Given the description of an element on the screen output the (x, y) to click on. 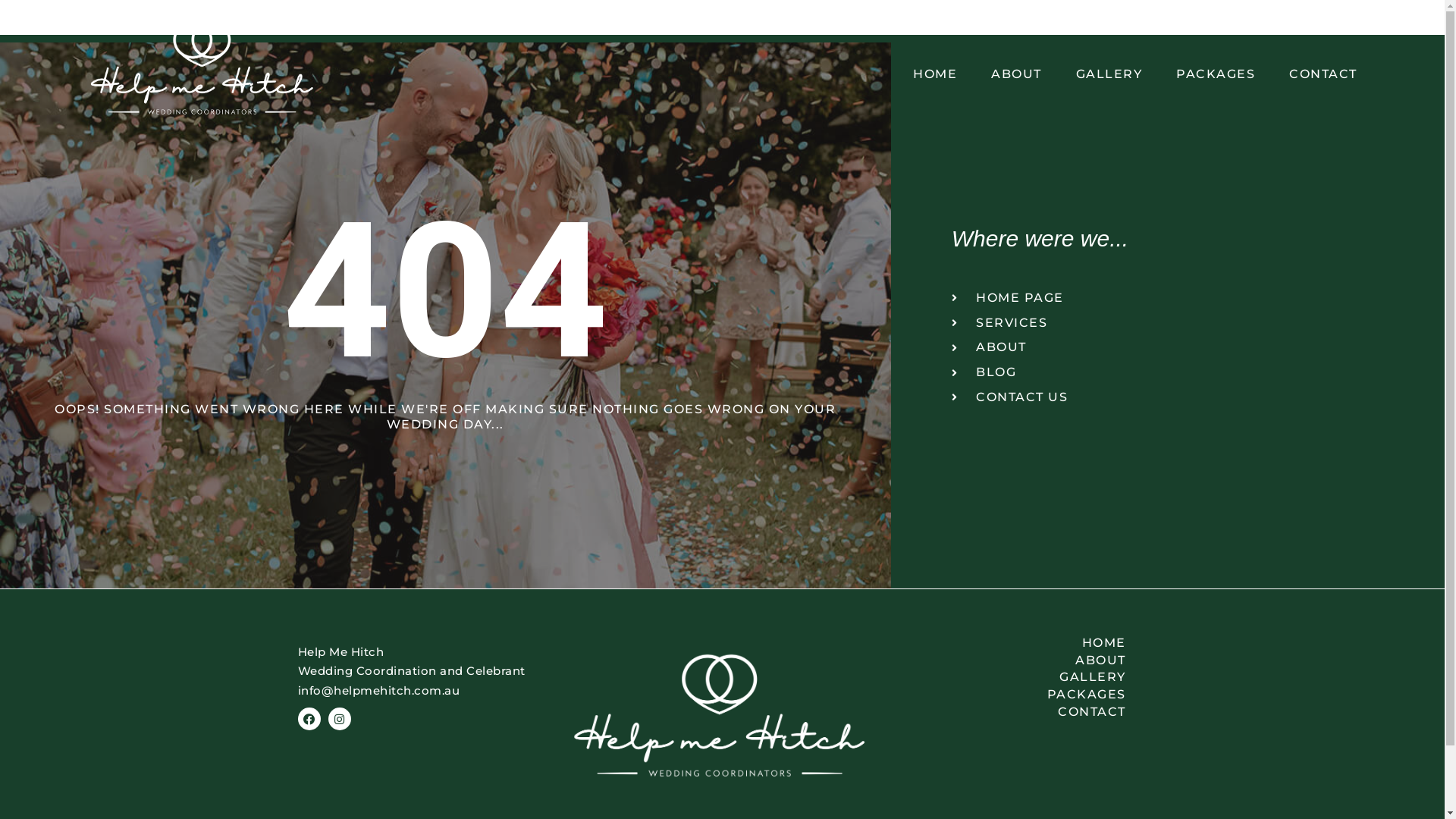
HOME PAGE Element type: text (1167, 298)
GALLERY Element type: text (1019, 677)
HOME Element type: text (1019, 643)
PACKAGES Element type: text (1019, 694)
ABOUT Element type: text (1167, 347)
CONTACT US Element type: text (1167, 397)
BLOG Element type: text (1167, 372)
GALLERY Element type: text (1108, 74)
CONTACT Element type: text (1019, 712)
SERVICES Element type: text (1167, 323)
ABOUT Element type: text (1019, 660)
HOME Element type: text (934, 74)
CONTACT Element type: text (1323, 74)
PACKAGES Element type: text (1215, 74)
ABOUT Element type: text (1016, 74)
